Given the description of an element on the screen output the (x, y) to click on. 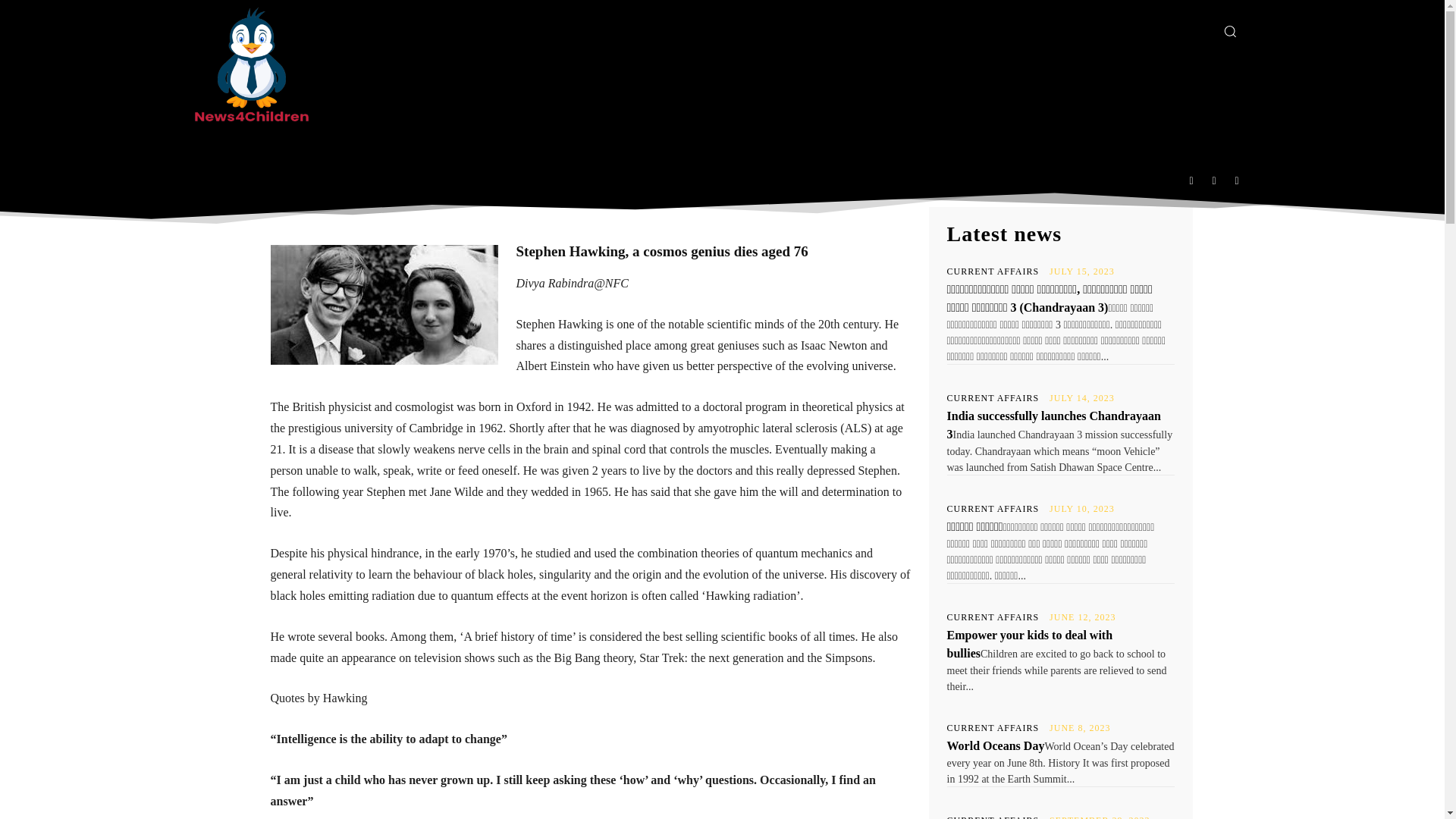
India successfully launches Chandrayaan 3 (1053, 424)
0 (853, 84)
Facebook (1191, 180)
NEWS4CHILDREN (666, 85)
Twitter (767, 171)
News4children (596, 85)
CURRENT AFFAIRS (992, 508)
Twitter (1237, 180)
CURRENT AFFAIRS (992, 271)
Facebook (732, 171)
